Given the description of an element on the screen output the (x, y) to click on. 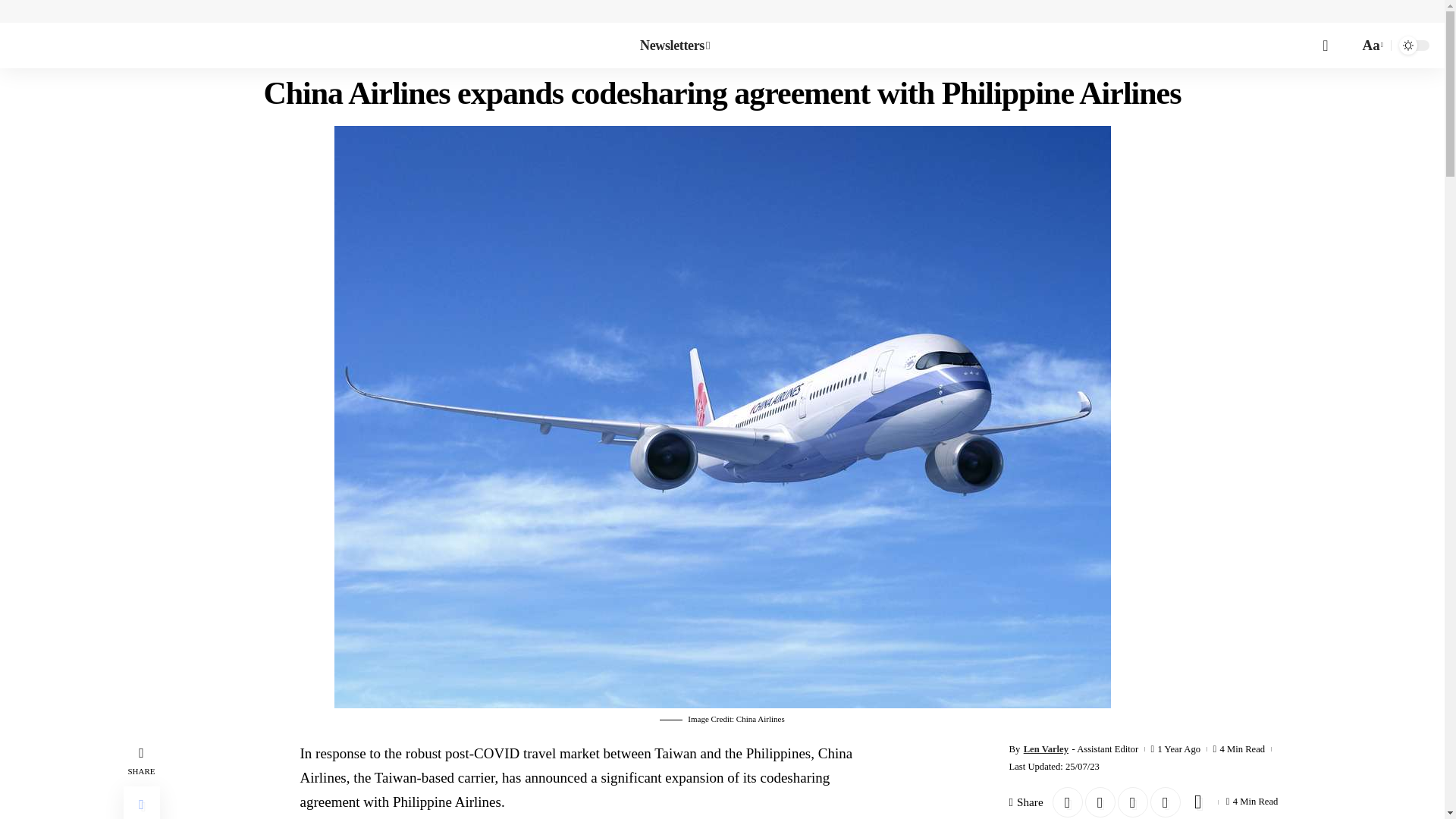
Aa (1371, 45)
Newsletters (674, 44)
